Given the description of an element on the screen output the (x, y) to click on. 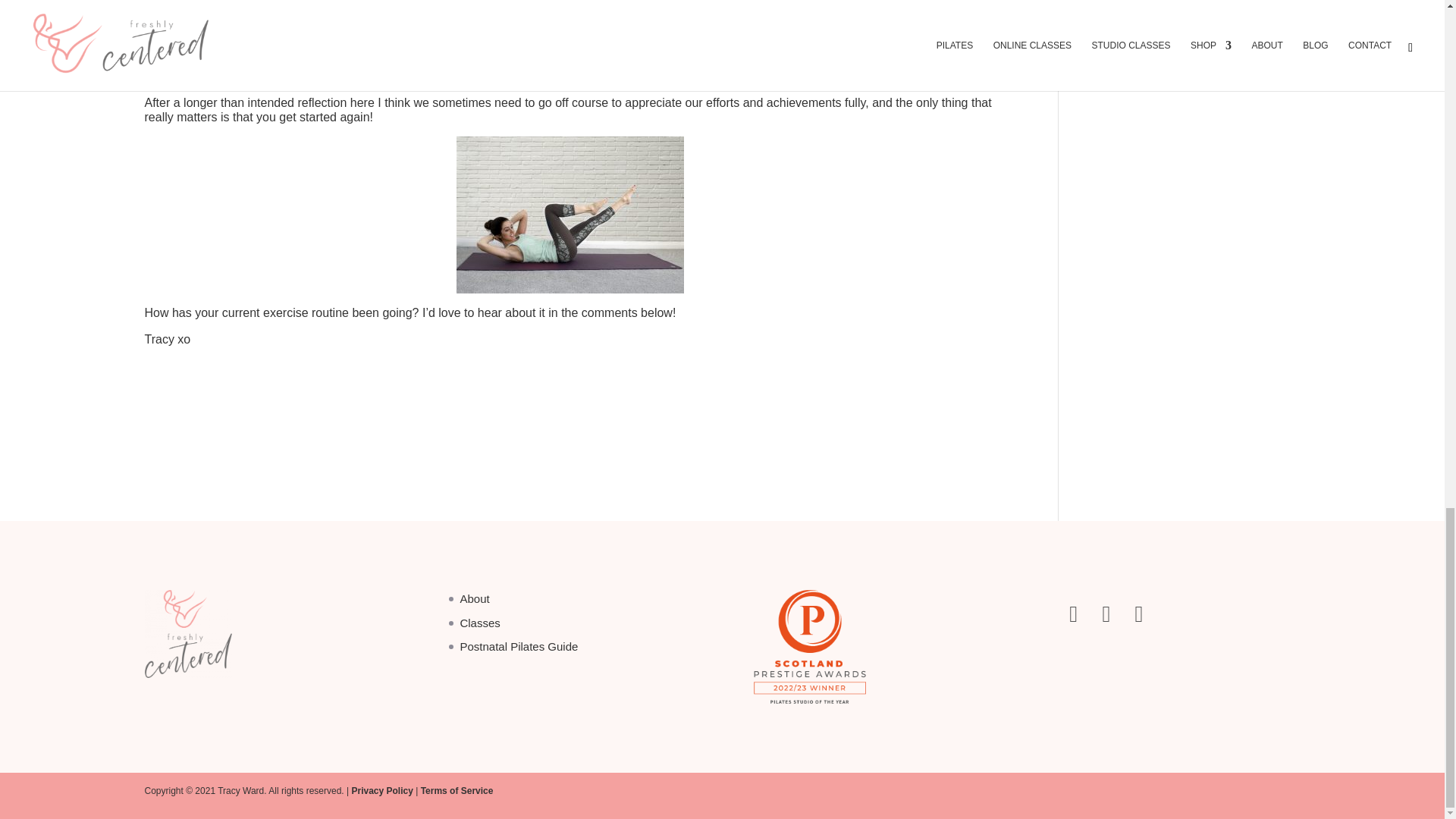
Privacy Policy (381, 790)
About (474, 598)
Postnatal Pilates Guide (519, 645)
Classes (479, 622)
